Given the description of an element on the screen output the (x, y) to click on. 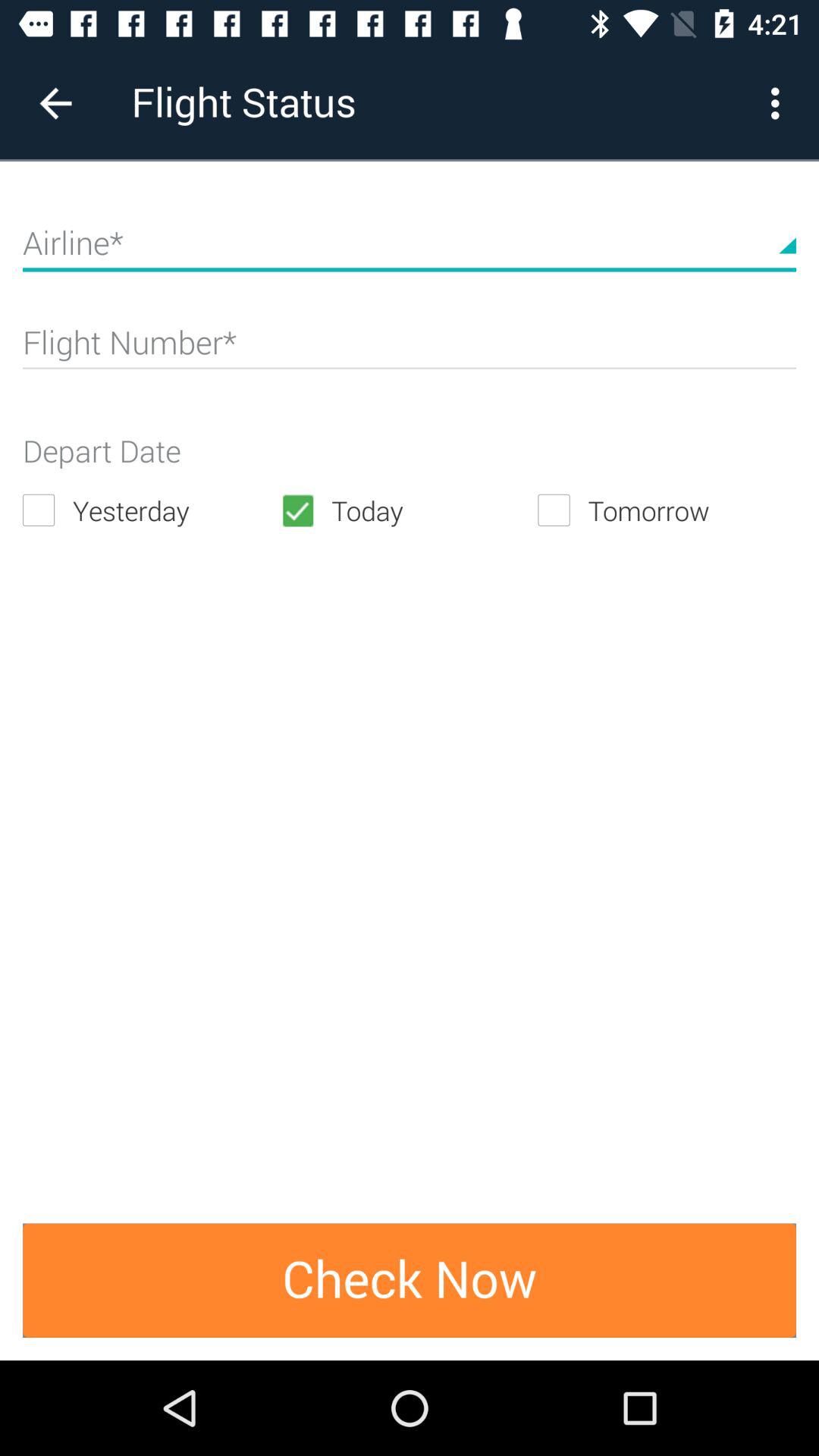
scroll to yesterday icon (151, 510)
